Given the description of an element on the screen output the (x, y) to click on. 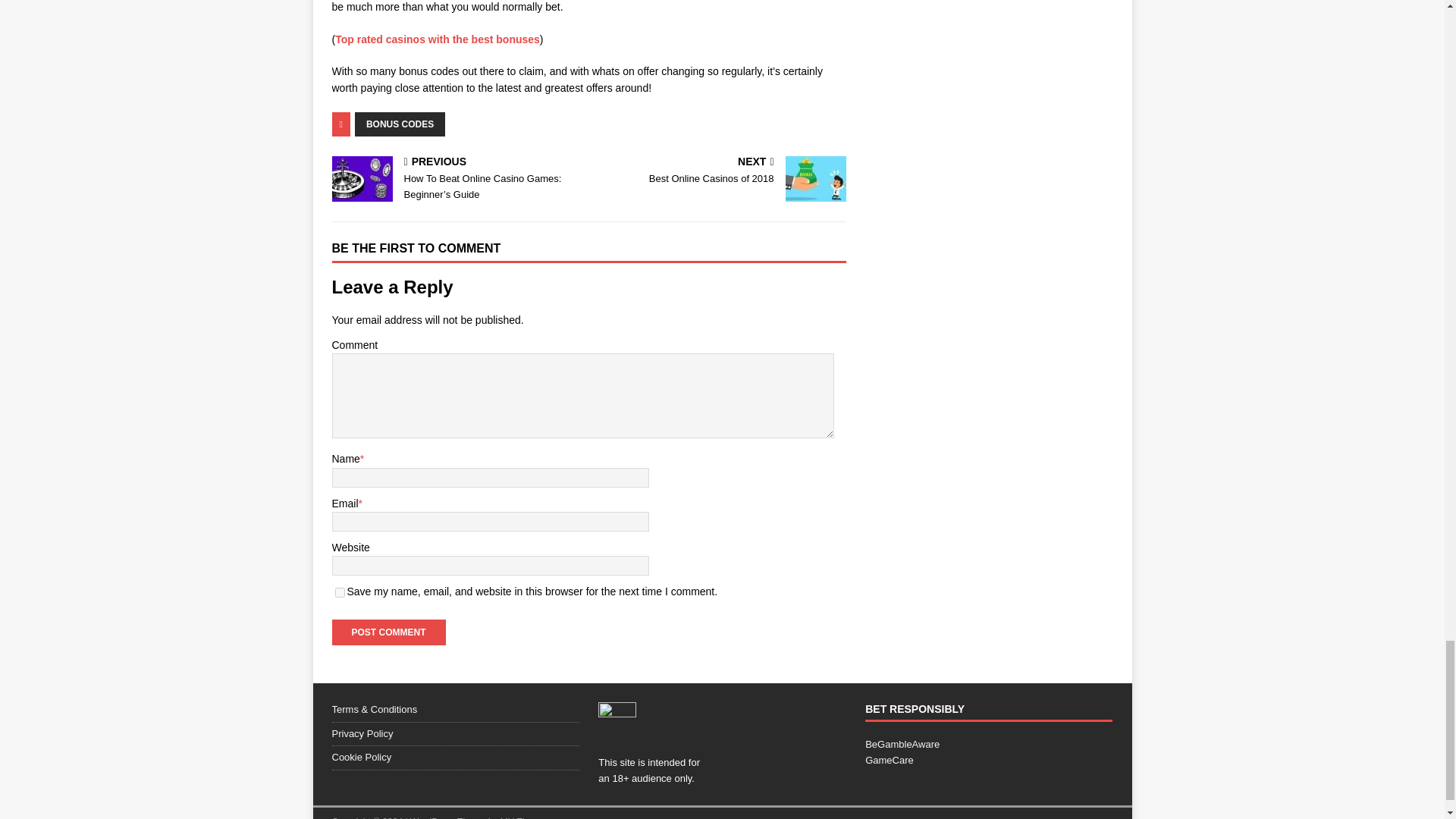
Post Comment (388, 632)
yes (339, 592)
BONUS CODES (400, 124)
Top rated casinos with the best bonuses (437, 39)
Post Comment (388, 632)
